Given the description of an element on the screen output the (x, y) to click on. 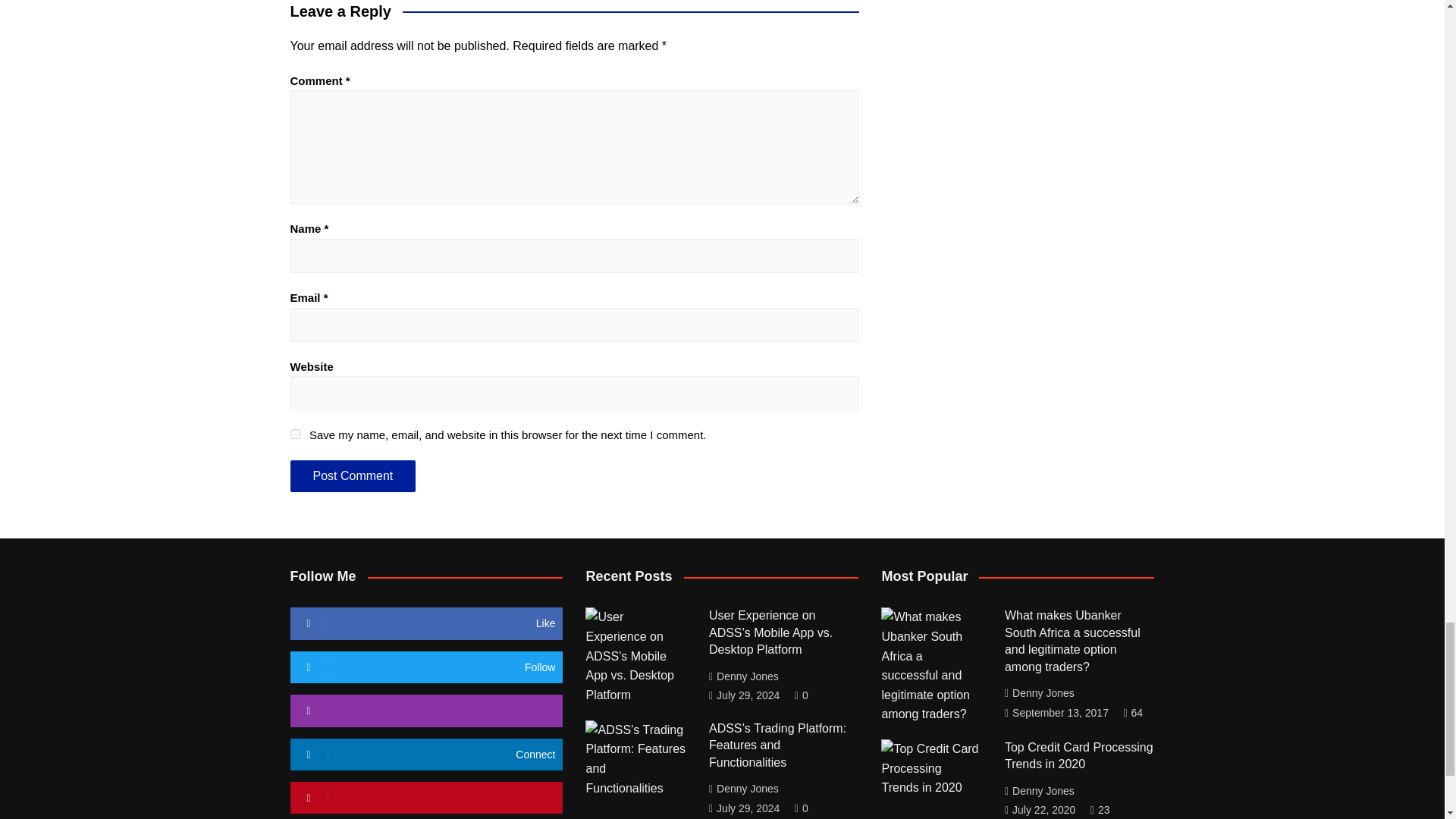
yes (294, 433)
Post Comment (351, 476)
